Given the description of an element on the screen output the (x, y) to click on. 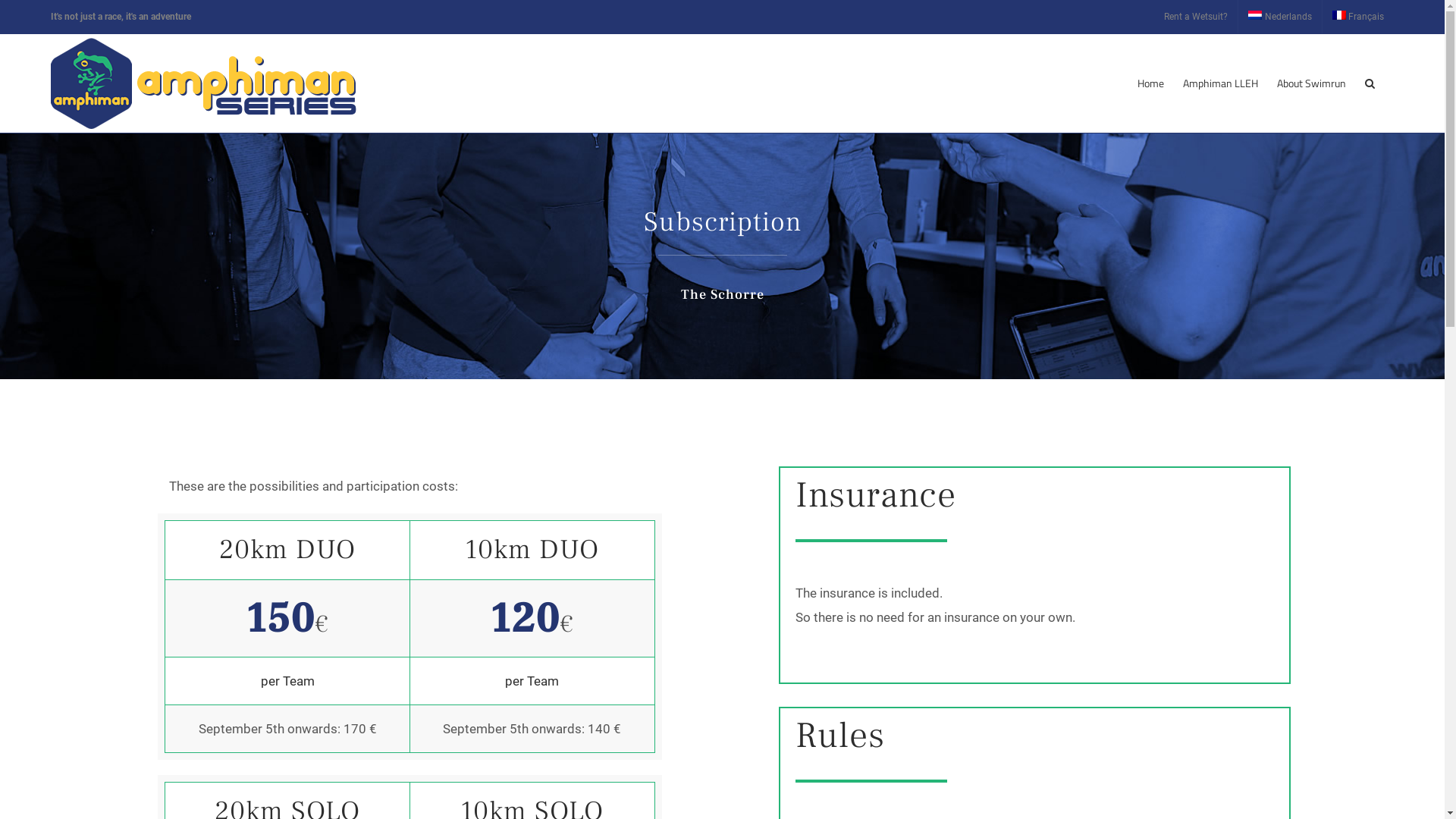
Nederlands Element type: text (1279, 16)
Rent a Wetsuit? Element type: text (1195, 16)
Search Element type: hover (1369, 83)
About Swimrun Element type: text (1311, 83)
Amphiman LLEH Element type: text (1220, 83)
Home Element type: text (1150, 83)
